Given the description of an element on the screen output the (x, y) to click on. 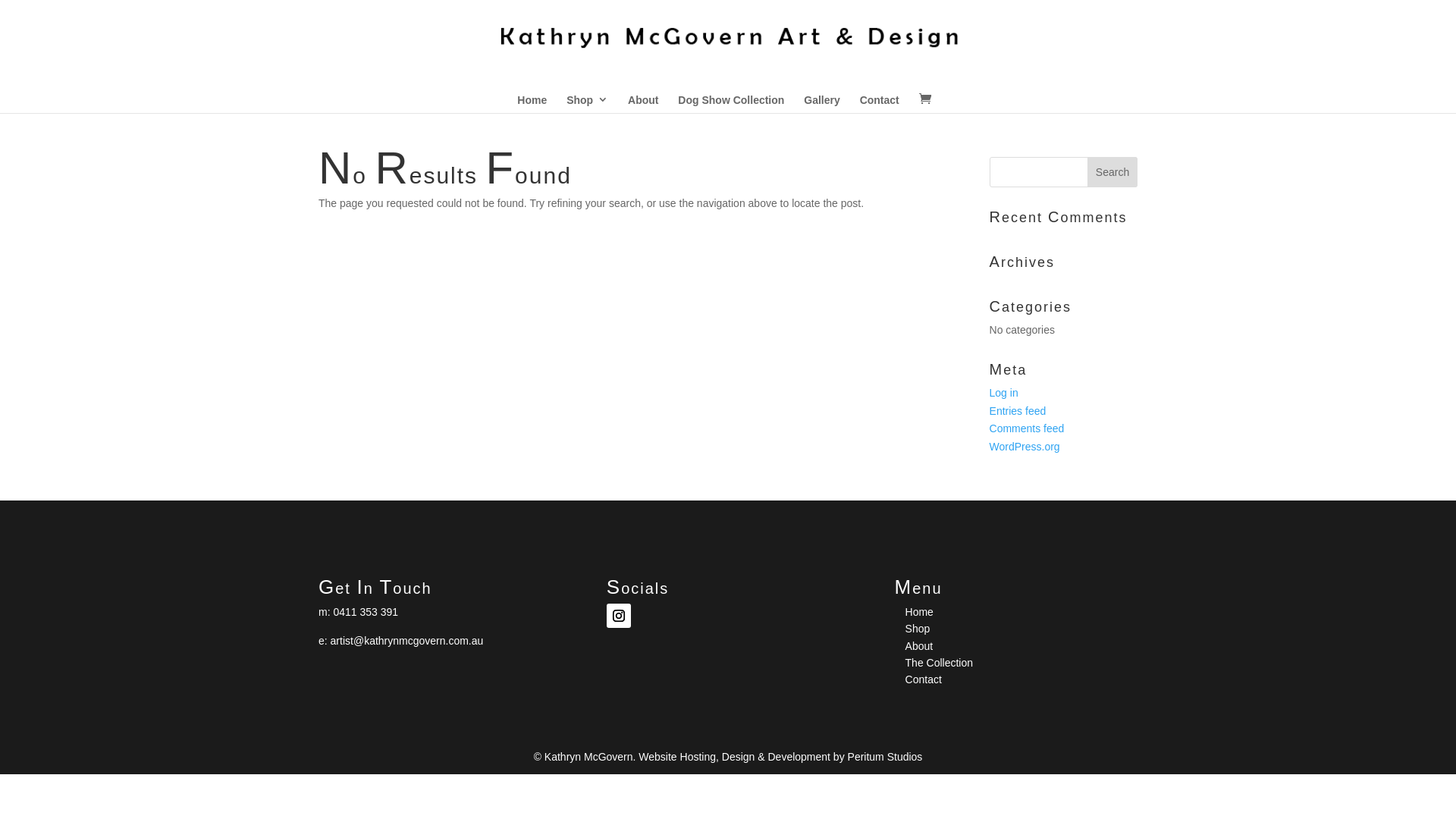
Dog Show Collection Element type: text (730, 93)
artist@kathrynmcgovern.com.au Element type: text (406, 640)
Peritum Studios Element type: text (884, 756)
Shop Element type: text (917, 628)
WordPress.org Element type: text (1024, 446)
Comments feed Element type: text (1026, 428)
Home Element type: text (919, 611)
Search Element type: text (1112, 171)
Log in Element type: text (1003, 392)
The Collection Element type: text (939, 662)
Entries feed Element type: text (1017, 410)
Home Element type: text (531, 93)
About Element type: text (919, 646)
Contact Element type: text (923, 679)
Follow on Instagram Element type: hover (618, 615)
About Element type: text (642, 93)
Shop Element type: text (587, 93)
Contact Element type: text (879, 93)
0411 353 391 Element type: text (365, 611)
Gallery Element type: text (821, 93)
